Given the description of an element on the screen output the (x, y) to click on. 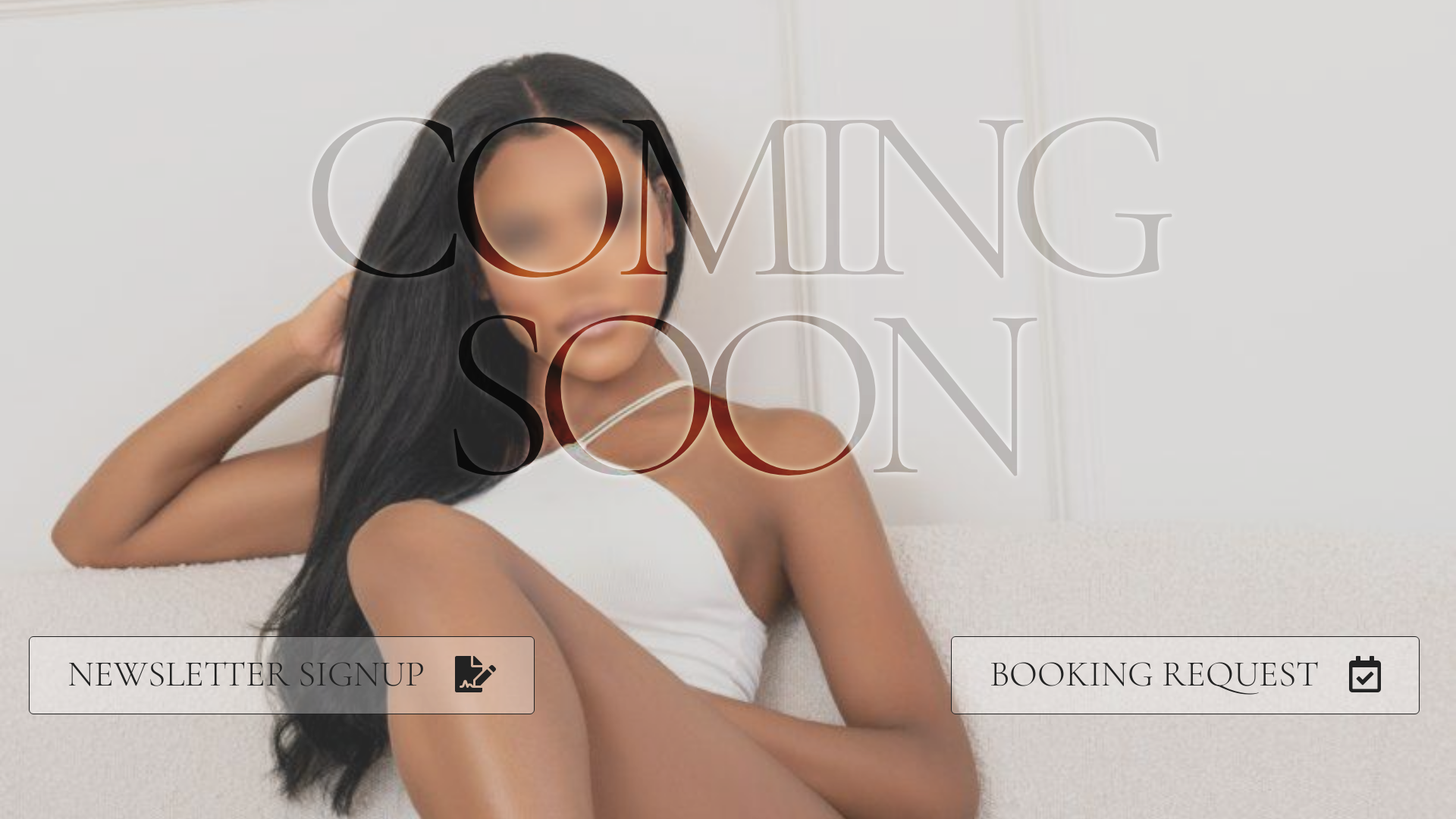
BOOKING REQUEST Element type: text (1184, 675)
NEWSLETTER SIGNUP Element type: text (281, 675)
